Given the description of an element on the screen output the (x, y) to click on. 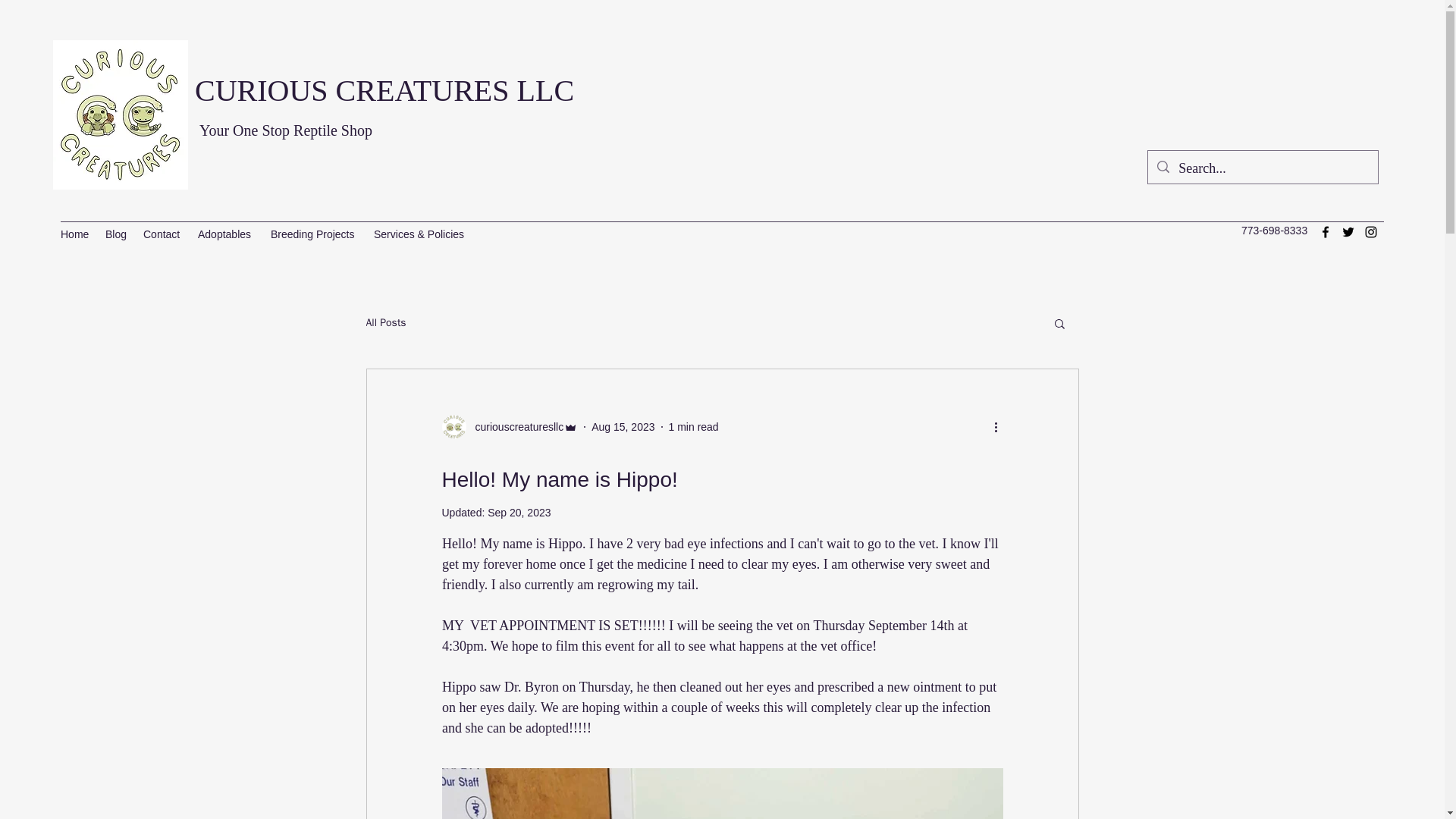
curiouscreaturesllc (514, 426)
All Posts (385, 323)
CURIOUS CREATURES LLC (384, 90)
Breeding Projects (314, 234)
Sep 20, 2023 (518, 512)
Blog (116, 234)
Adoptables (226, 234)
Your One Stop Reptile Shop (285, 130)
curiouscreaturesllc (509, 426)
Contact (162, 234)
